Given the description of an element on the screen output the (x, y) to click on. 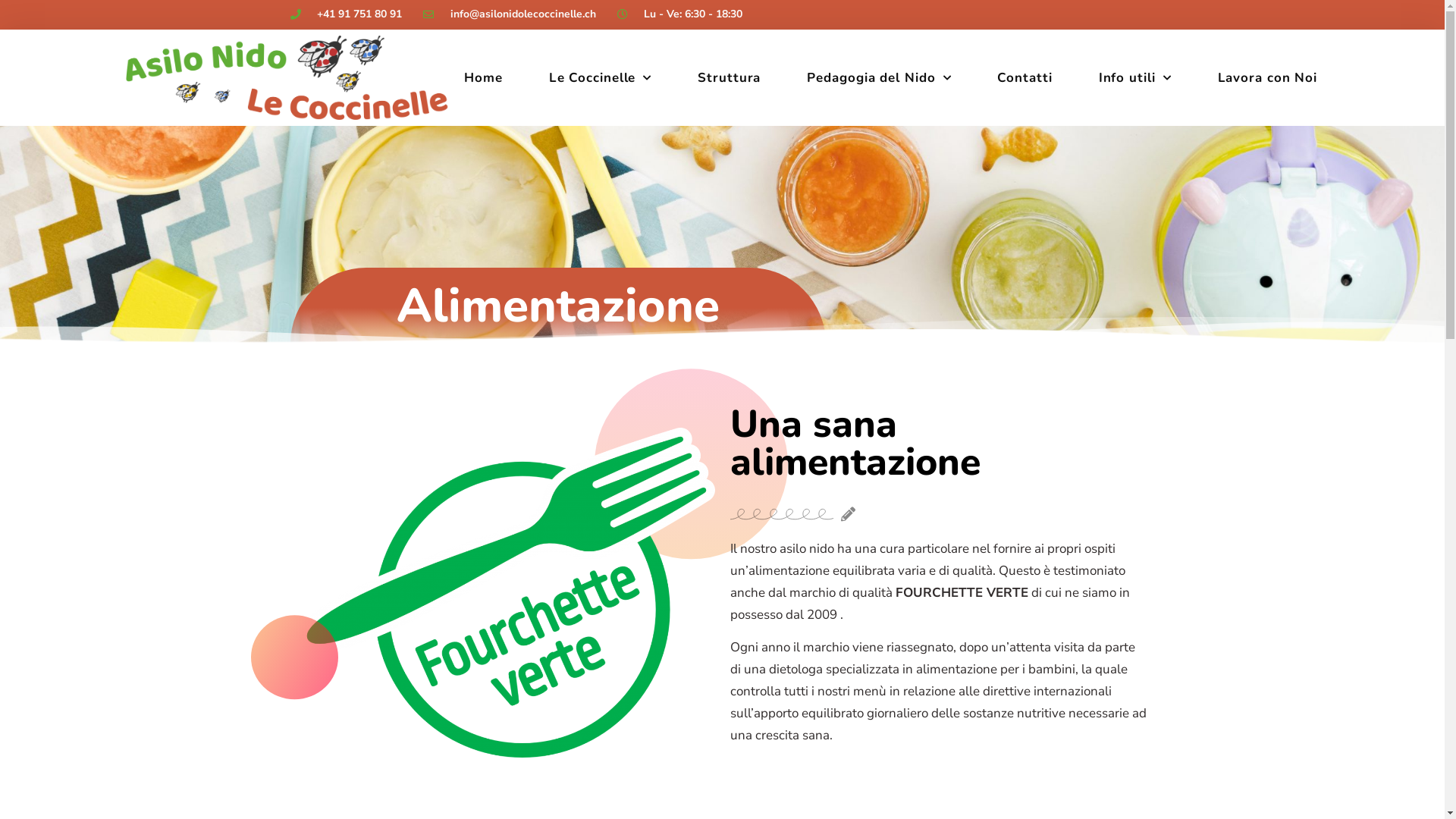
Le Coccinelle Element type: text (600, 77)
Home Element type: text (483, 77)
+41 91 751 80 91 Element type: text (345, 14)
Pedagogia del Nido Element type: text (878, 77)
Info utili Element type: text (1135, 77)
Lavora con Noi Element type: text (1267, 77)
info@asilonidolecoccinelle.ch Element type: text (509, 14)
Struttura Element type: text (728, 77)
Contatti Element type: text (1024, 77)
